Given the description of an element on the screen output the (x, y) to click on. 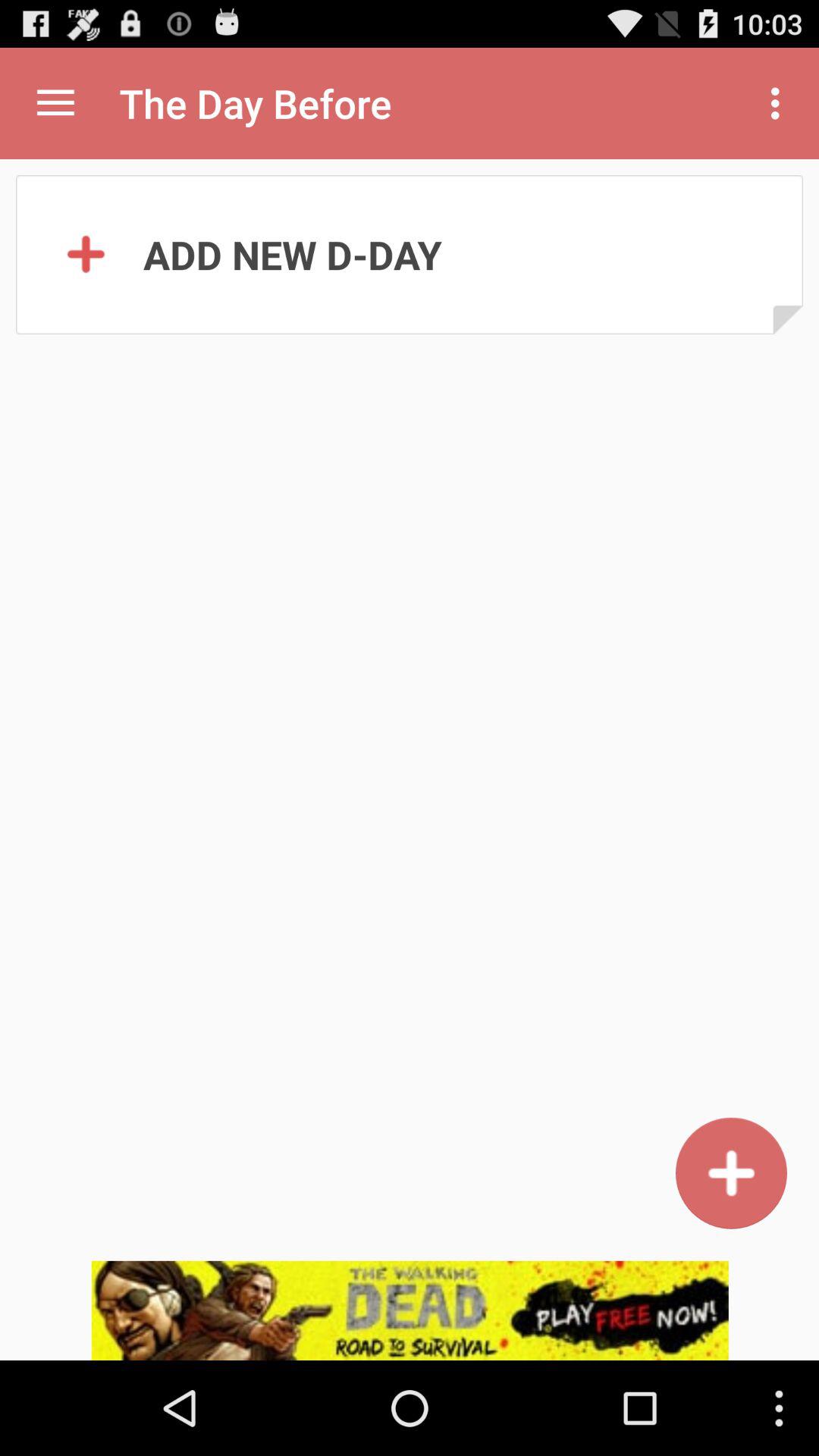
play the walking dead road to survival (409, 1310)
